Given the description of an element on the screen output the (x, y) to click on. 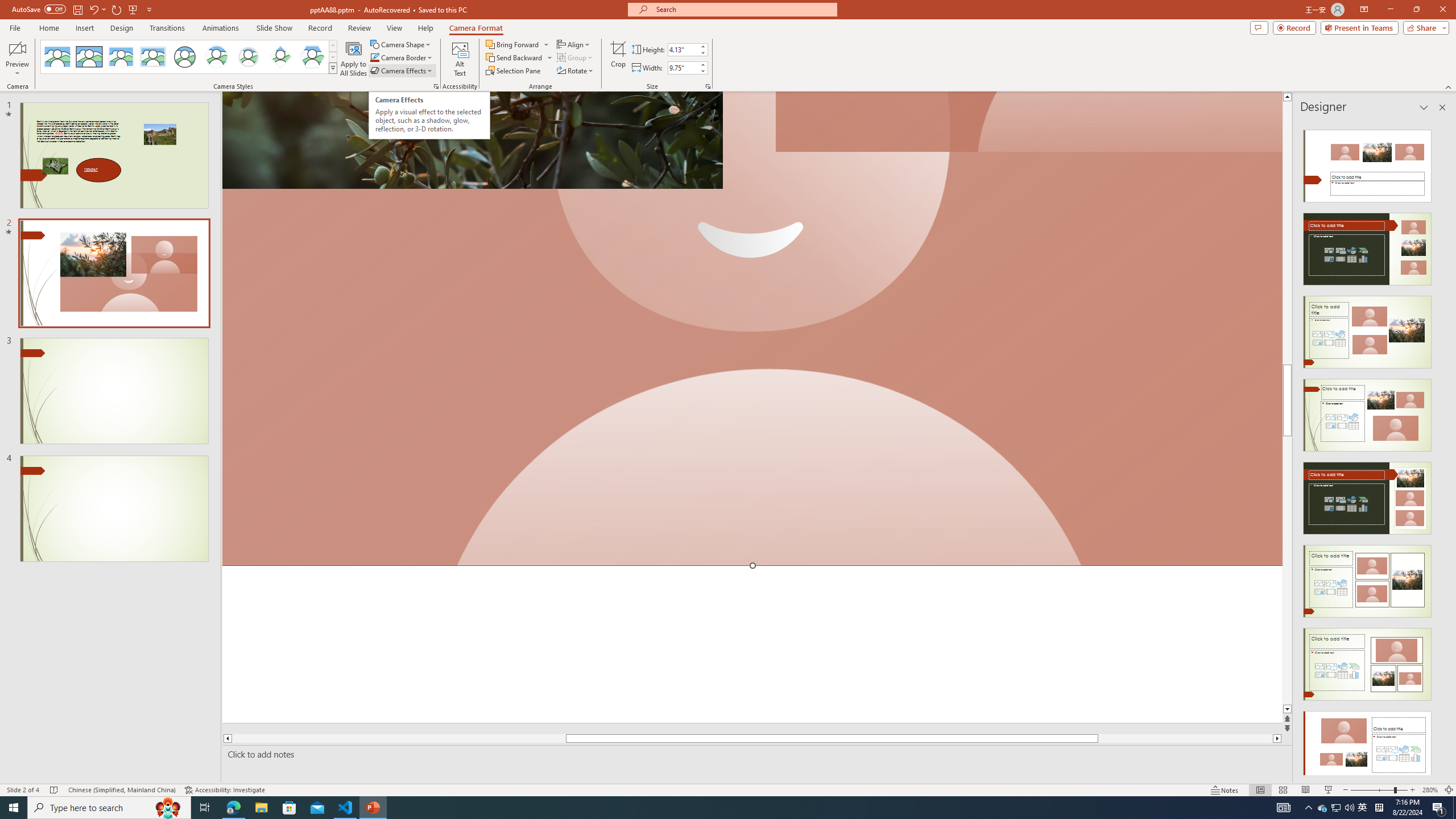
Camera Format (475, 28)
Design Idea (1366, 743)
Camera Styles (333, 67)
Center Shadow Circle (216, 56)
Bring Forward (517, 44)
Selection Pane... (513, 69)
Size and Position... (707, 85)
